Given the description of an element on the screen output the (x, y) to click on. 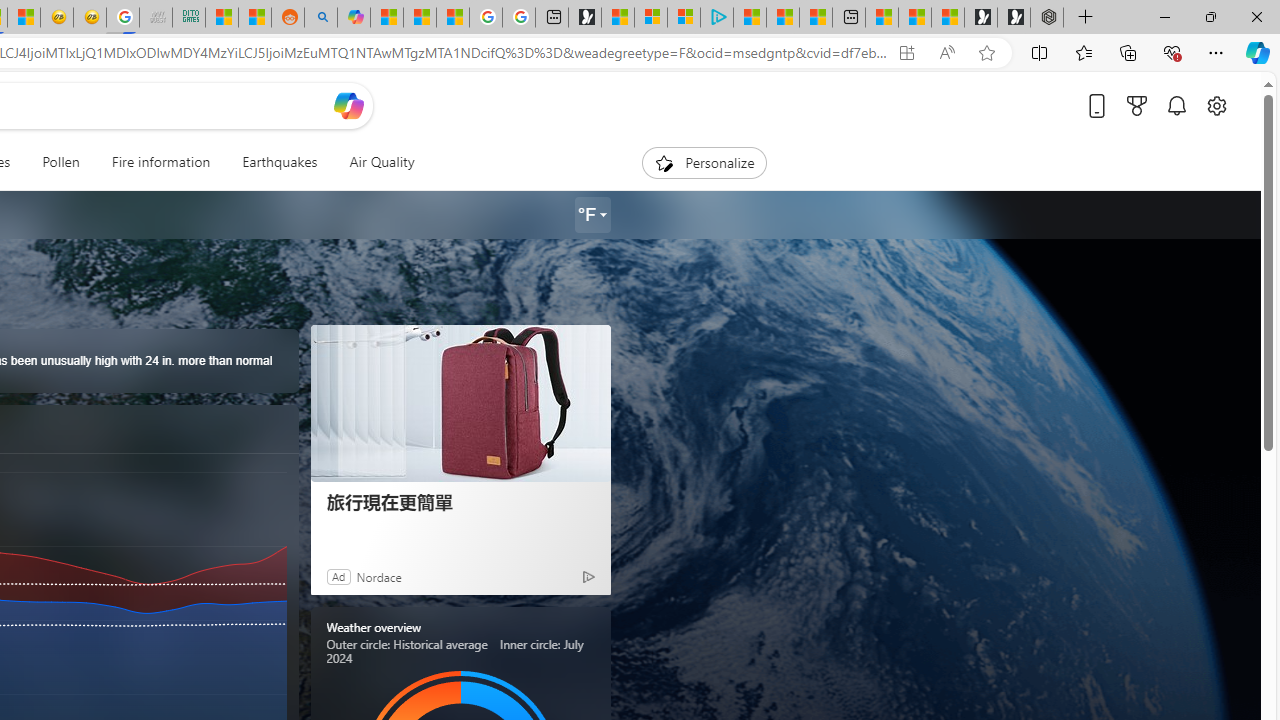
Earthquakes (279, 162)
These 3 Stocks Pay You More Than 5% to Own Them (815, 17)
